Given the description of an element on the screen output the (x, y) to click on. 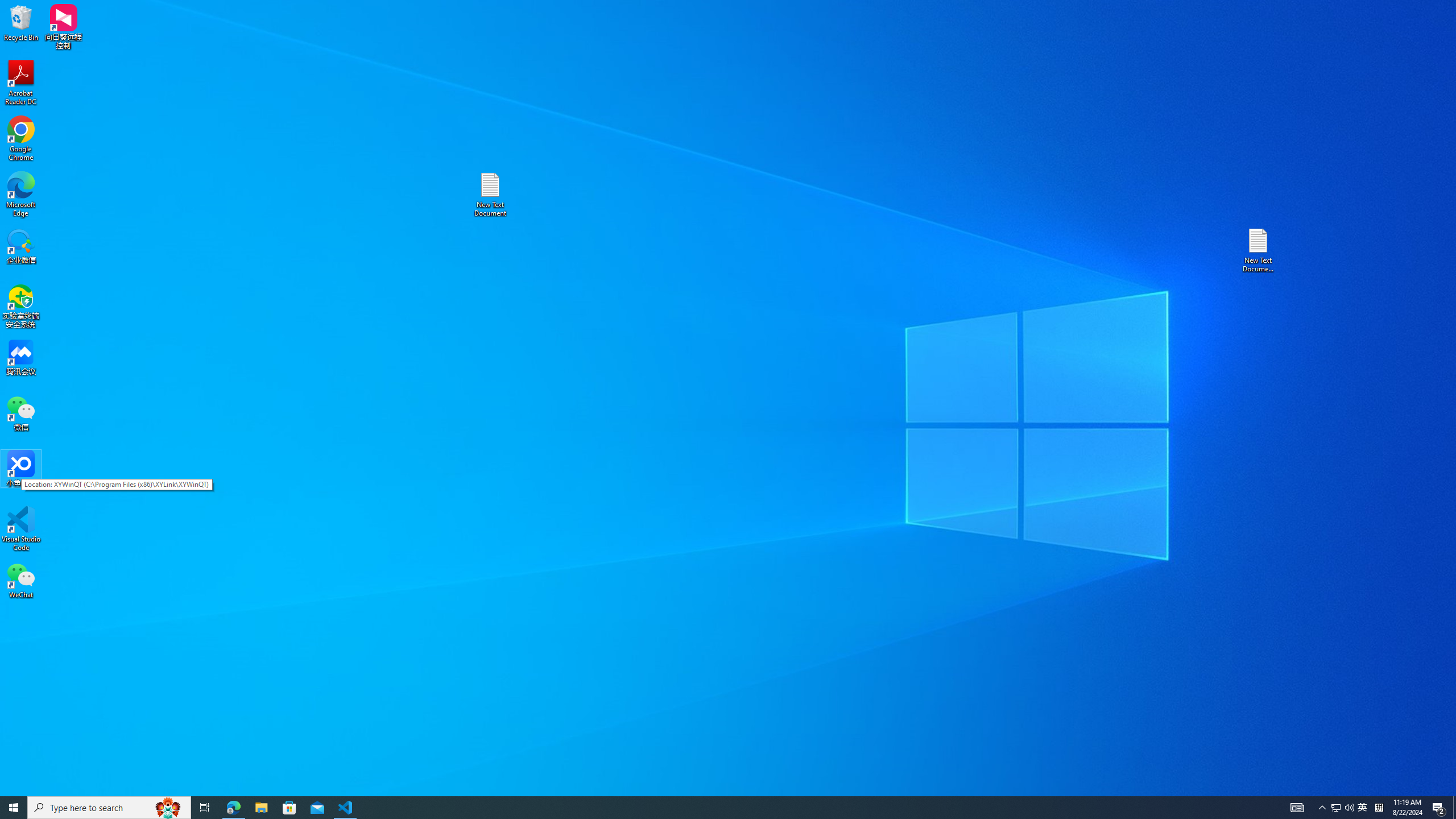
Microsoft Store (289, 807)
Microsoft Edge (21, 194)
Action Center, 2 new notifications (1439, 807)
Task View (204, 807)
Search highlights icon opens search home window (167, 807)
Show desktop (1362, 807)
Tray Input Indicator - Chinese (Simplified, China) (1454, 807)
New Text Document (1378, 807)
Microsoft Edge - 1 running window (489, 194)
Running applications (233, 807)
Q2790: 100% (707, 807)
Acrobat Reader DC (1349, 807)
Recycle Bin (21, 82)
